Given the description of an element on the screen output the (x, y) to click on. 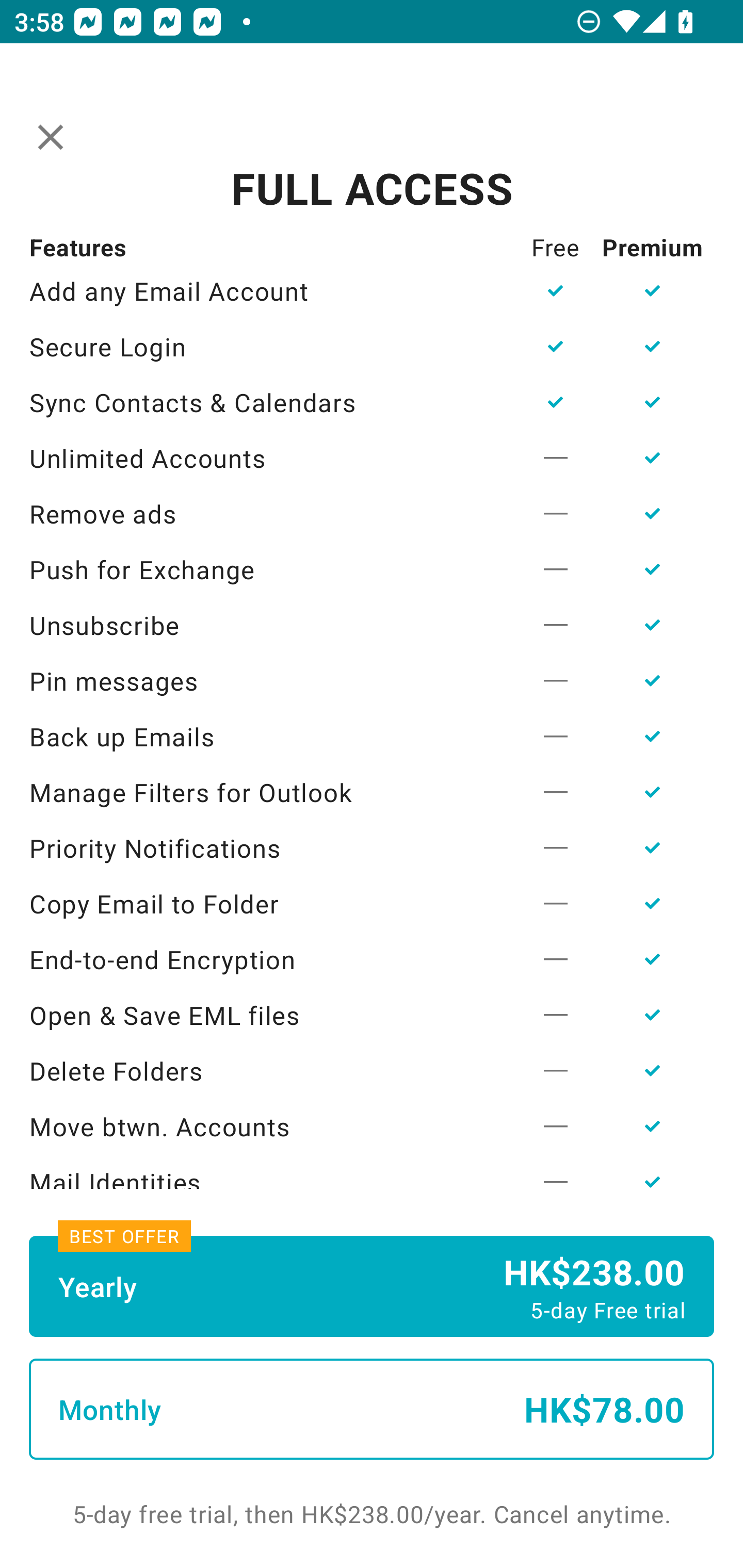
Yearly HK$238.00 5-day Free trial (371, 1286)
Monthly HK$78.00 (371, 1408)
